Given the description of an element on the screen output the (x, y) to click on. 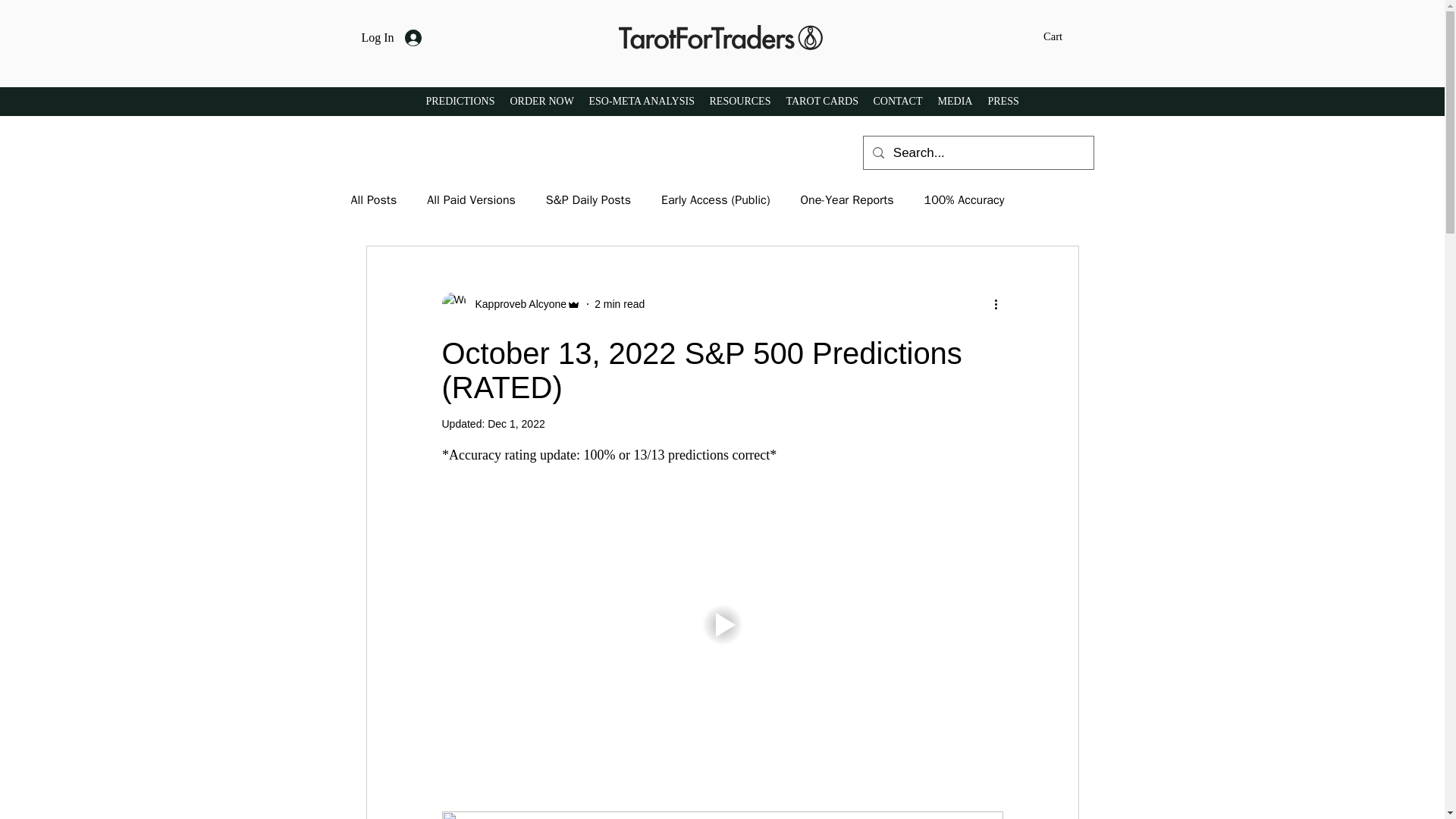
All Posts (373, 200)
Log In (390, 37)
All Paid Versions (470, 200)
Kapproveb Alcyone (515, 303)
2 min read (619, 303)
PREDICTIONS (460, 101)
Kapproveb Alcyone (510, 303)
Cart (1062, 36)
ESO-META ANALYSIS (640, 101)
PRESS (1002, 101)
